Given the description of an element on the screen output the (x, y) to click on. 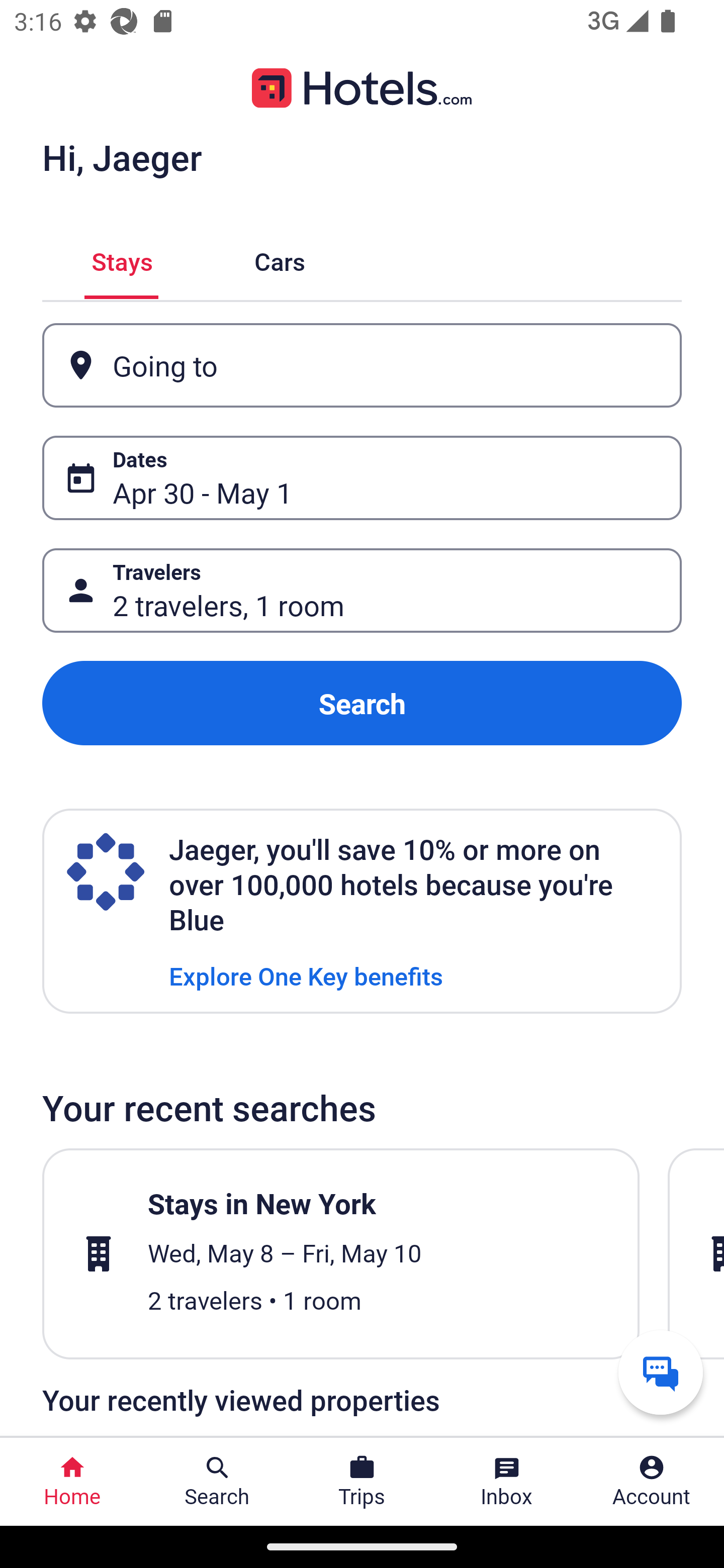
Hi, Jaeger (121, 156)
Cars (279, 259)
Going to Button (361, 365)
Dates Button Apr 30 - May 1 (361, 477)
Travelers Button 2 travelers, 1 room (361, 590)
Search (361, 702)
Get help from a virtual agent (660, 1371)
Search Search Button (216, 1481)
Trips Trips Button (361, 1481)
Inbox Inbox Button (506, 1481)
Account Profile. Button (651, 1481)
